Given the description of an element on the screen output the (x, y) to click on. 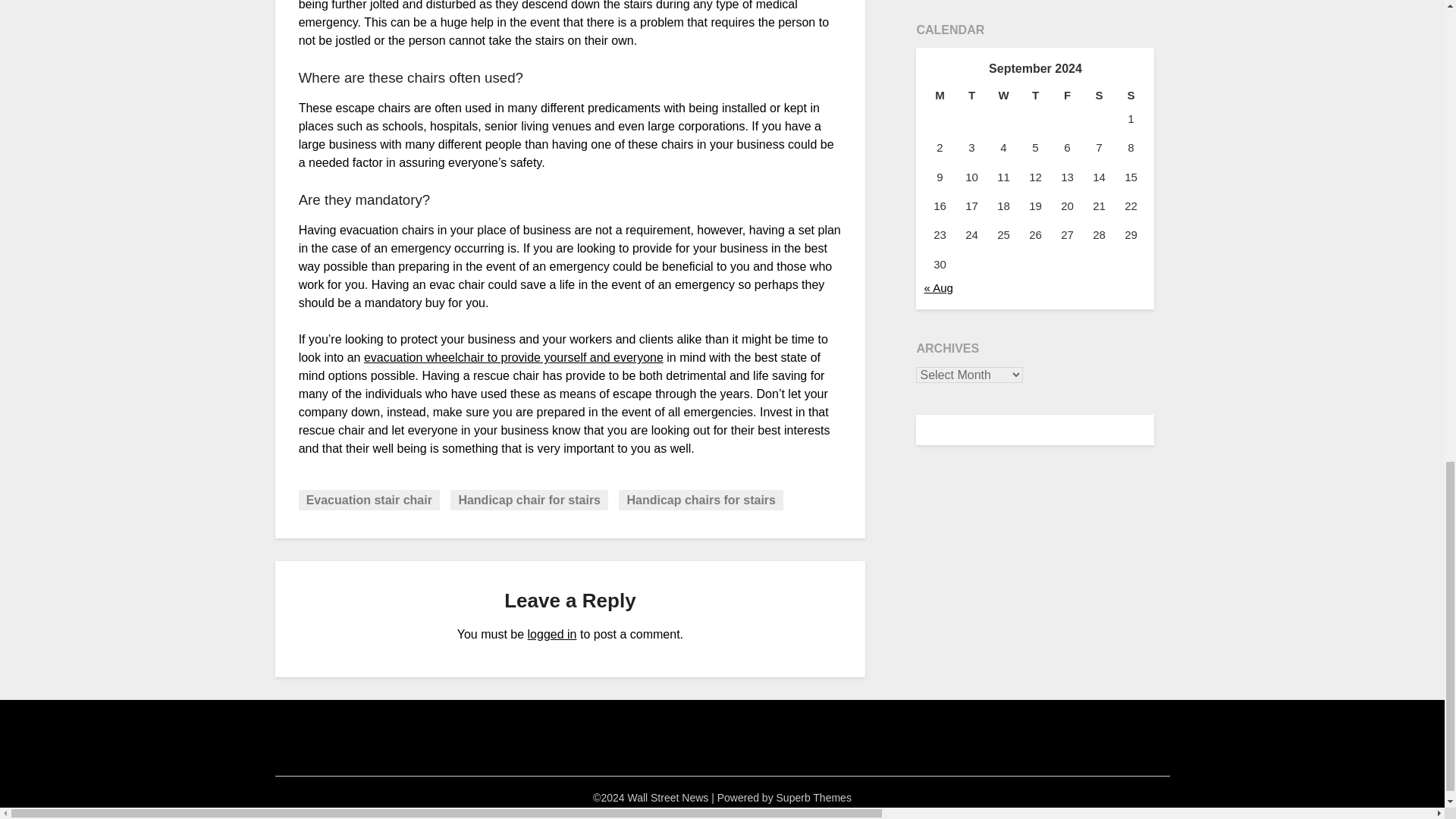
Handicap chairs for stairs (700, 499)
Saturday (1099, 95)
Superb Themes (813, 797)
logged in (551, 634)
Evacuation stair chair (368, 499)
evacuation wheelchair to provide yourself and everyone (513, 357)
Wednesday (1003, 95)
I link here (513, 357)
Handicap chair for stairs (528, 499)
Sunday (1131, 95)
